Given the description of an element on the screen output the (x, y) to click on. 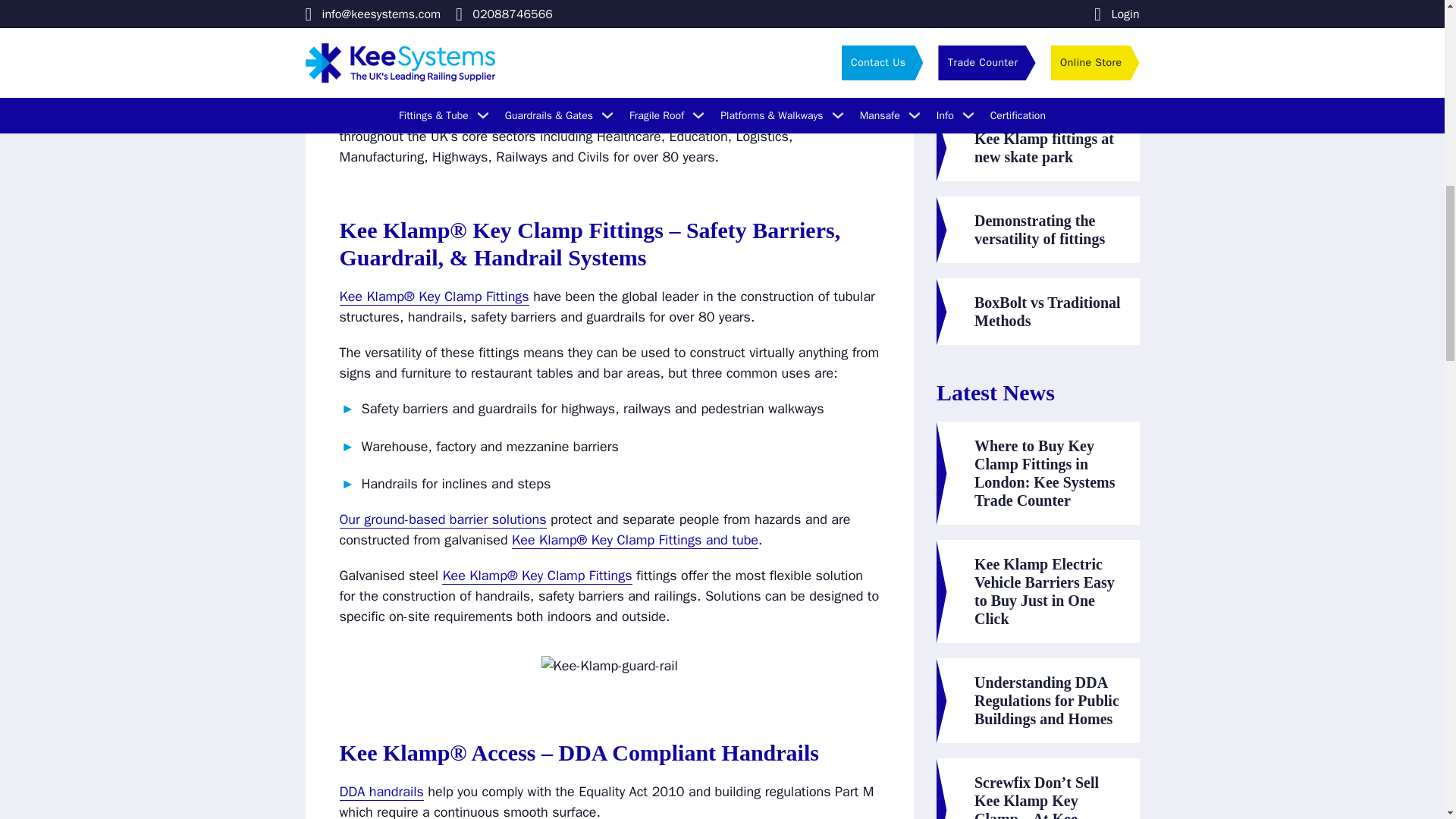
Kee Systems: The One Stop Company for Handrails 1 (609, 666)
